Given the description of an element on the screen output the (x, y) to click on. 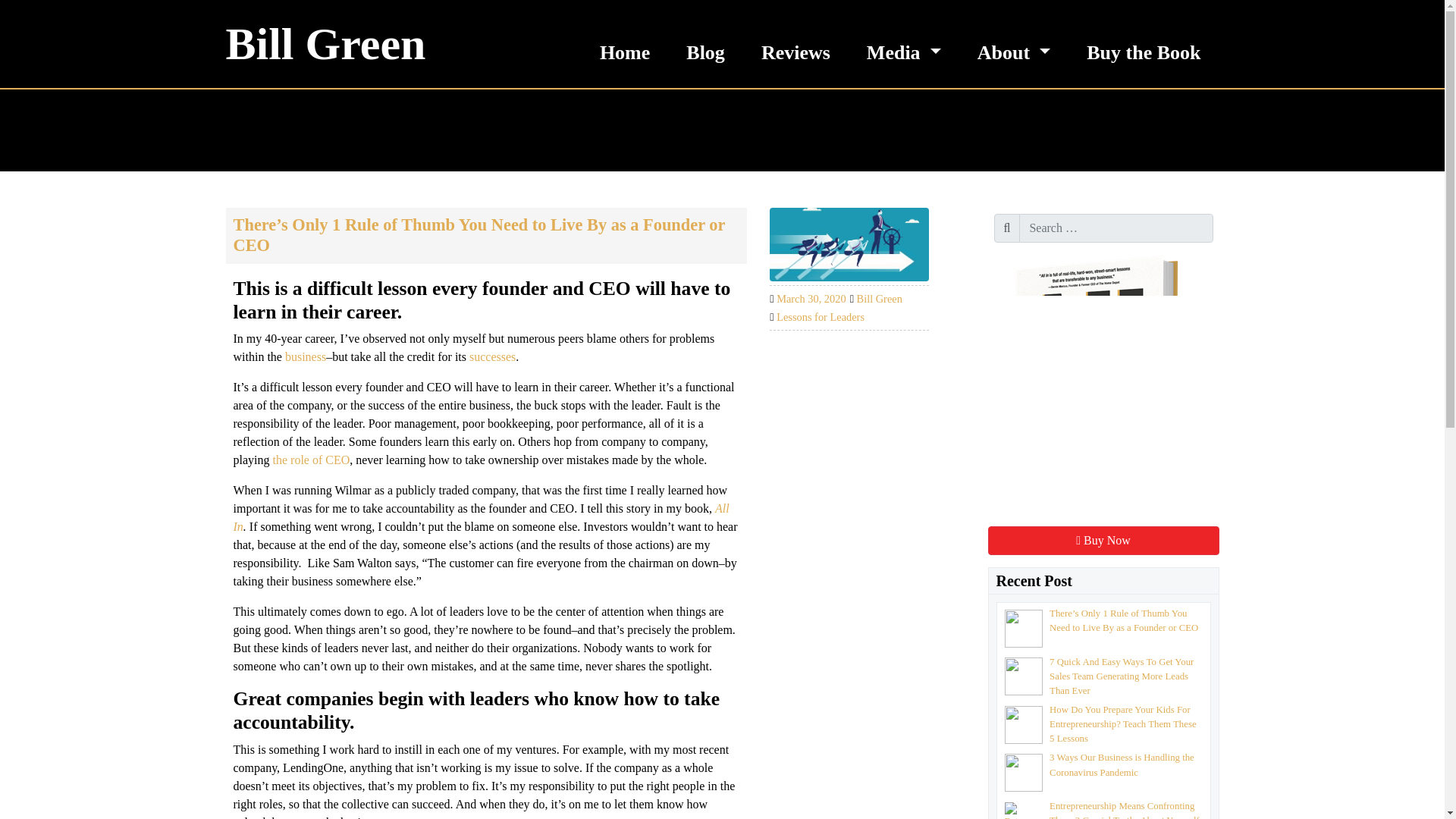
3 Ways Our Business is Handling the Coronavirus Pandemic (1121, 764)
Blog (705, 44)
Blog (705, 44)
business (305, 356)
Home (624, 44)
Bill Green (879, 298)
the role of CEO (311, 459)
Reviews (795, 44)
Bill Green (325, 43)
Home (624, 44)
